Given the description of an element on the screen output the (x, y) to click on. 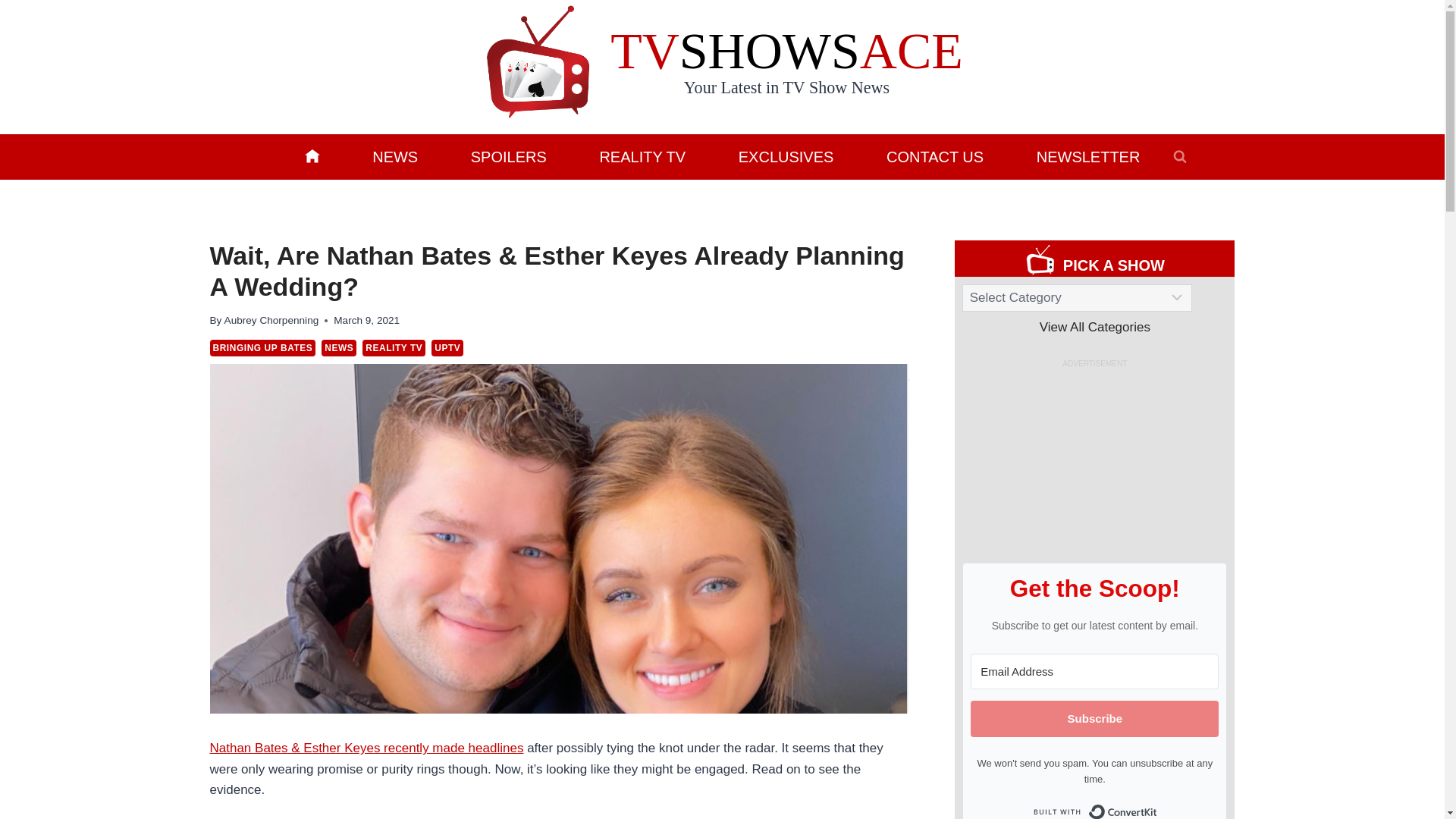
NEWS (338, 347)
REALITY TV (393, 347)
Aubrey Chorpenning (271, 319)
CONTACT US (935, 156)
EXCLUSIVES (785, 156)
BRINGING UP BATES (262, 347)
SPOILERS (508, 156)
UPTV (446, 347)
NEWS (395, 156)
NEWSLETTER (1088, 156)
REALITY TV (642, 156)
